Given the description of an element on the screen output the (x, y) to click on. 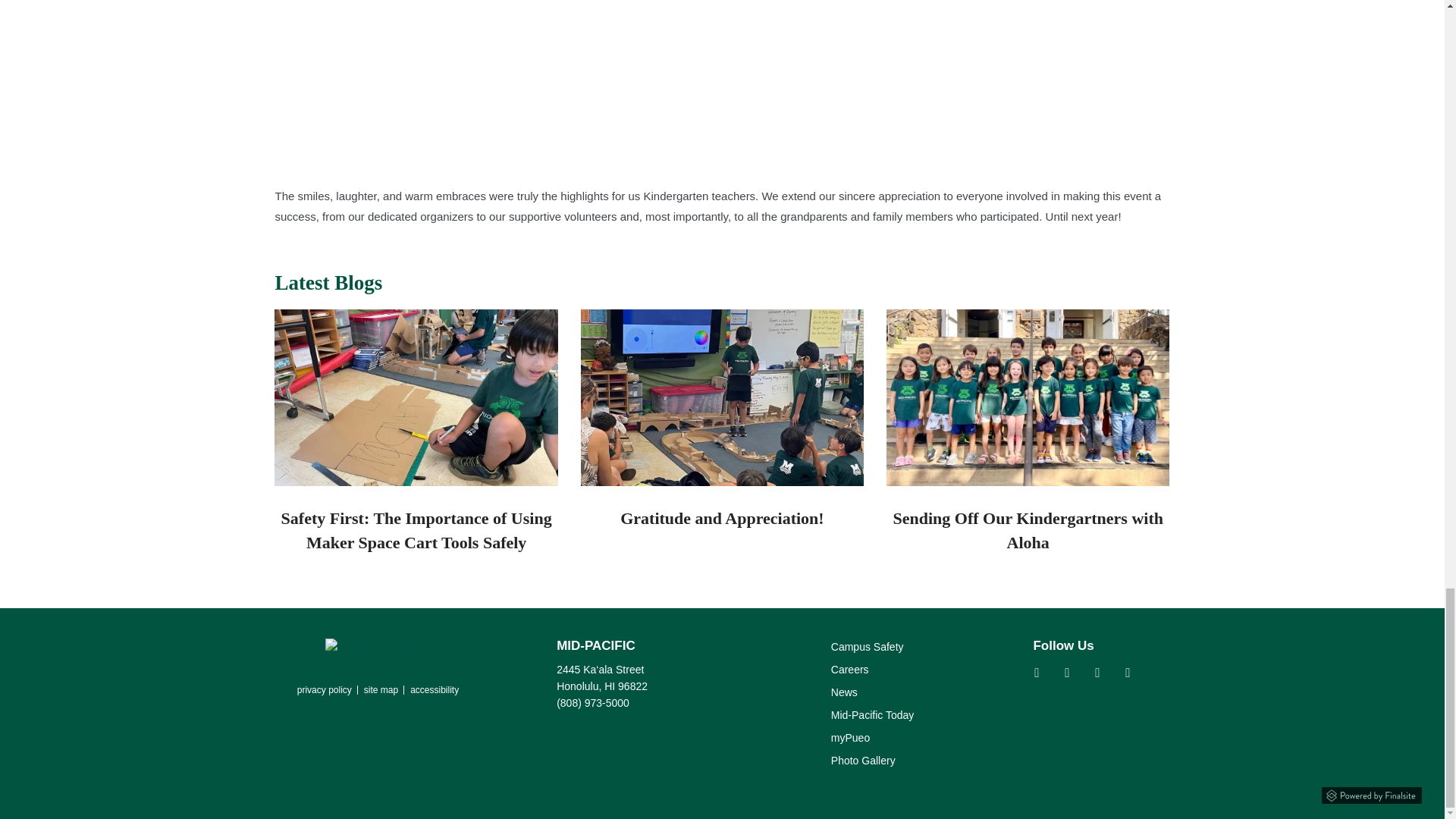
Sending Off Our Kindergartners with Aloha (1027, 396)
Powered by Finalsite opens in a new window (1372, 792)
Gratitude and Appreciation! (721, 396)
